Given the description of an element on the screen output the (x, y) to click on. 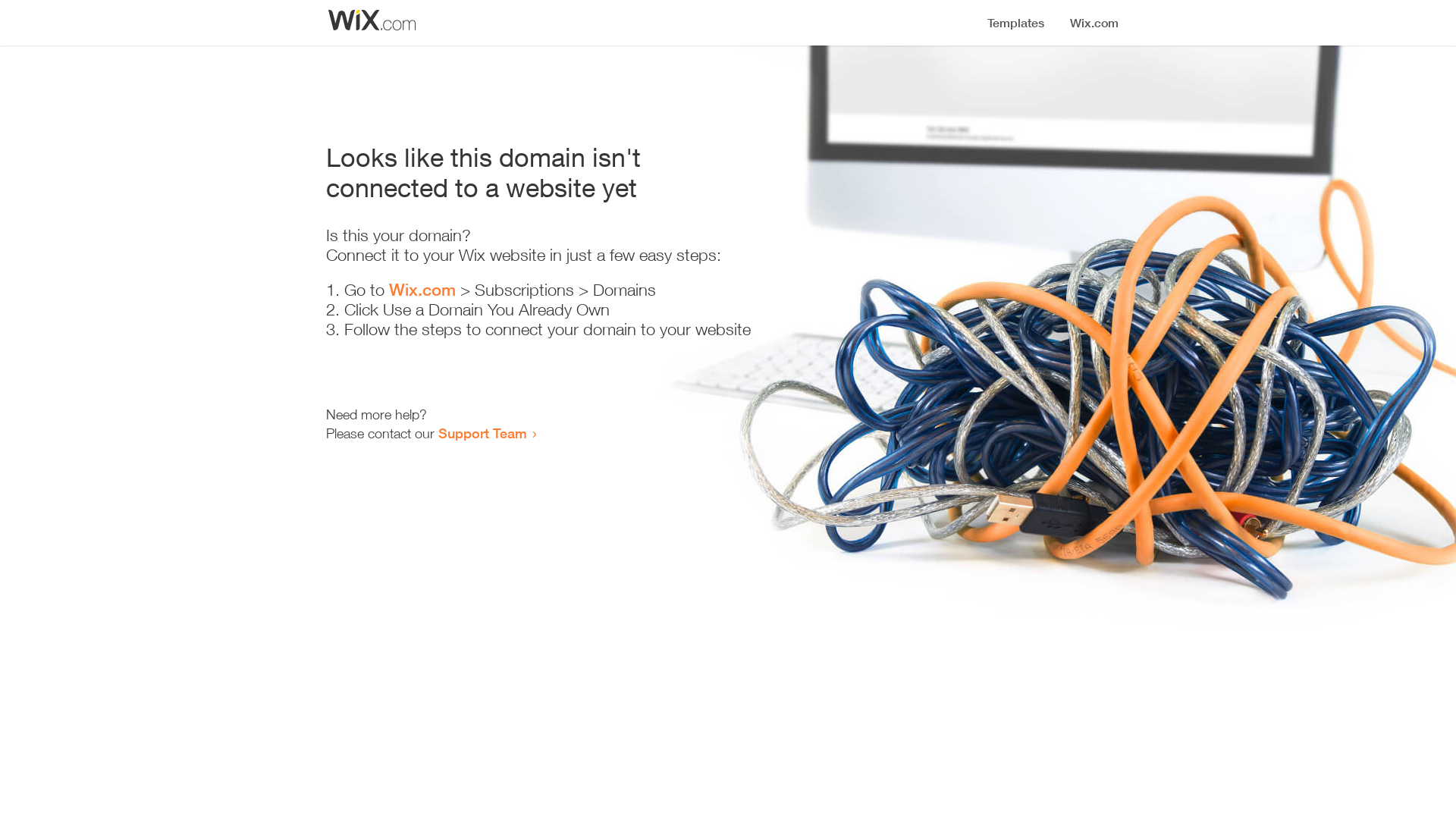
Support Team Element type: text (482, 432)
Wix.com Element type: text (422, 289)
